Given the description of an element on the screen output the (x, y) to click on. 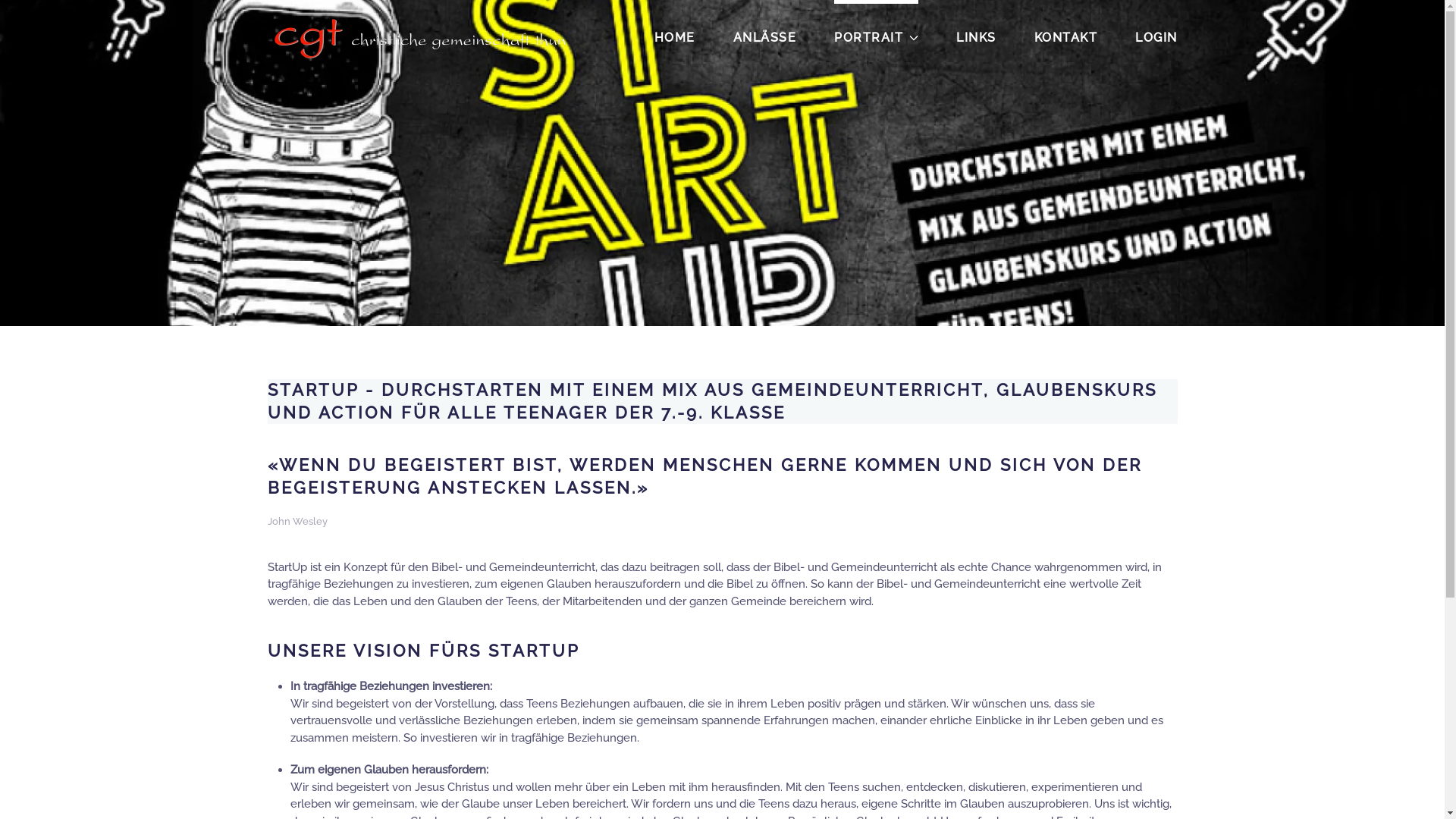
HOME Element type: text (673, 37)
LINKS Element type: text (976, 37)
LOGIN Element type: text (1156, 37)
PORTRAIT Element type: text (876, 37)
KONTAKT Element type: text (1066, 37)
